Given the description of an element on the screen output the (x, y) to click on. 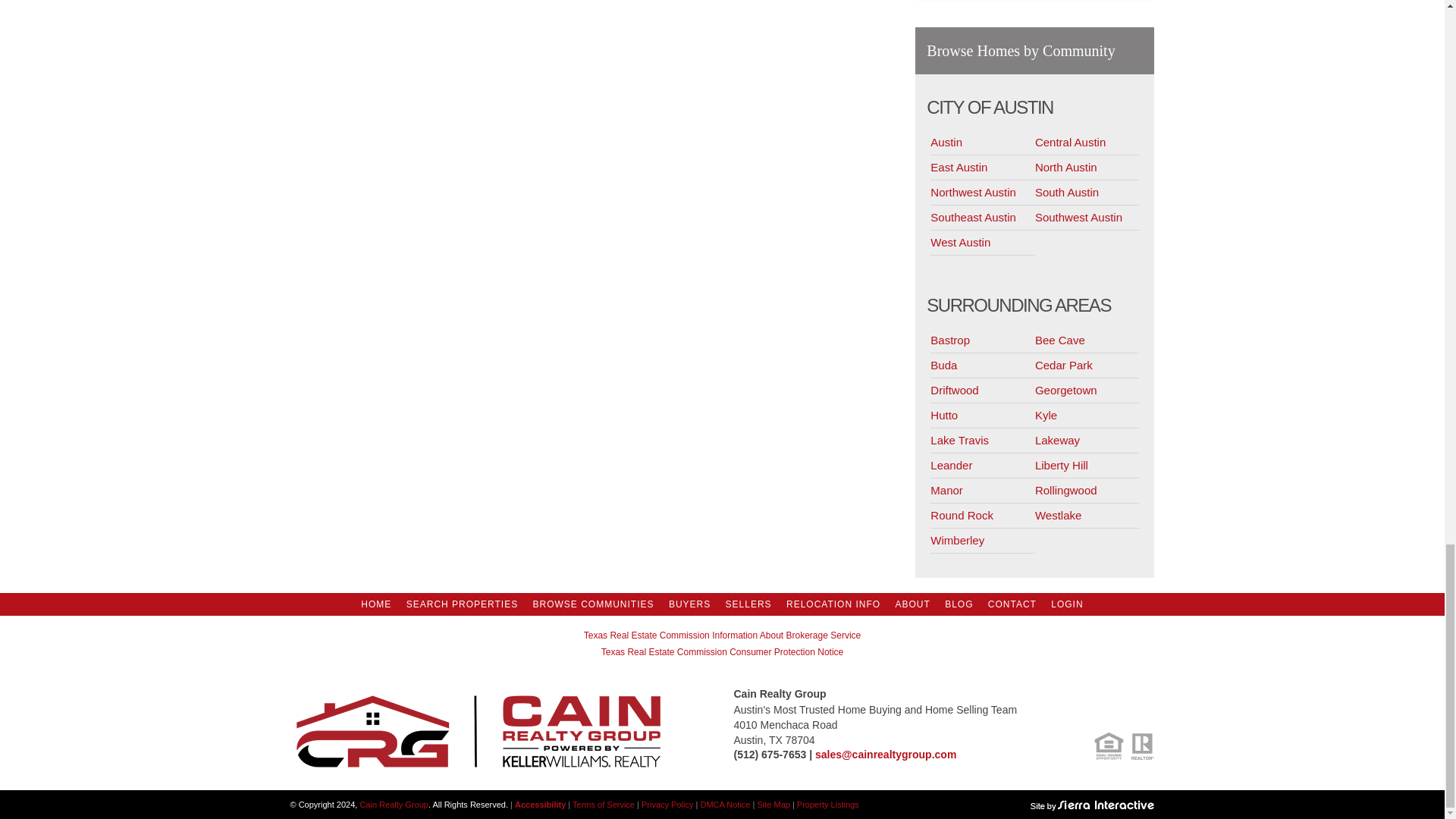
View North Austin (1087, 167)
View East Austin (982, 167)
View Bastrop (982, 340)
View Northwest Austin (982, 192)
View South Austin (1087, 192)
View West Austin (982, 242)
View Austin (982, 142)
View Southeast Austin (982, 217)
View Southwest Austin (1087, 217)
View Central Austin (1087, 142)
View Bee Cave (1087, 340)
